Given the description of an element on the screen output the (x, y) to click on. 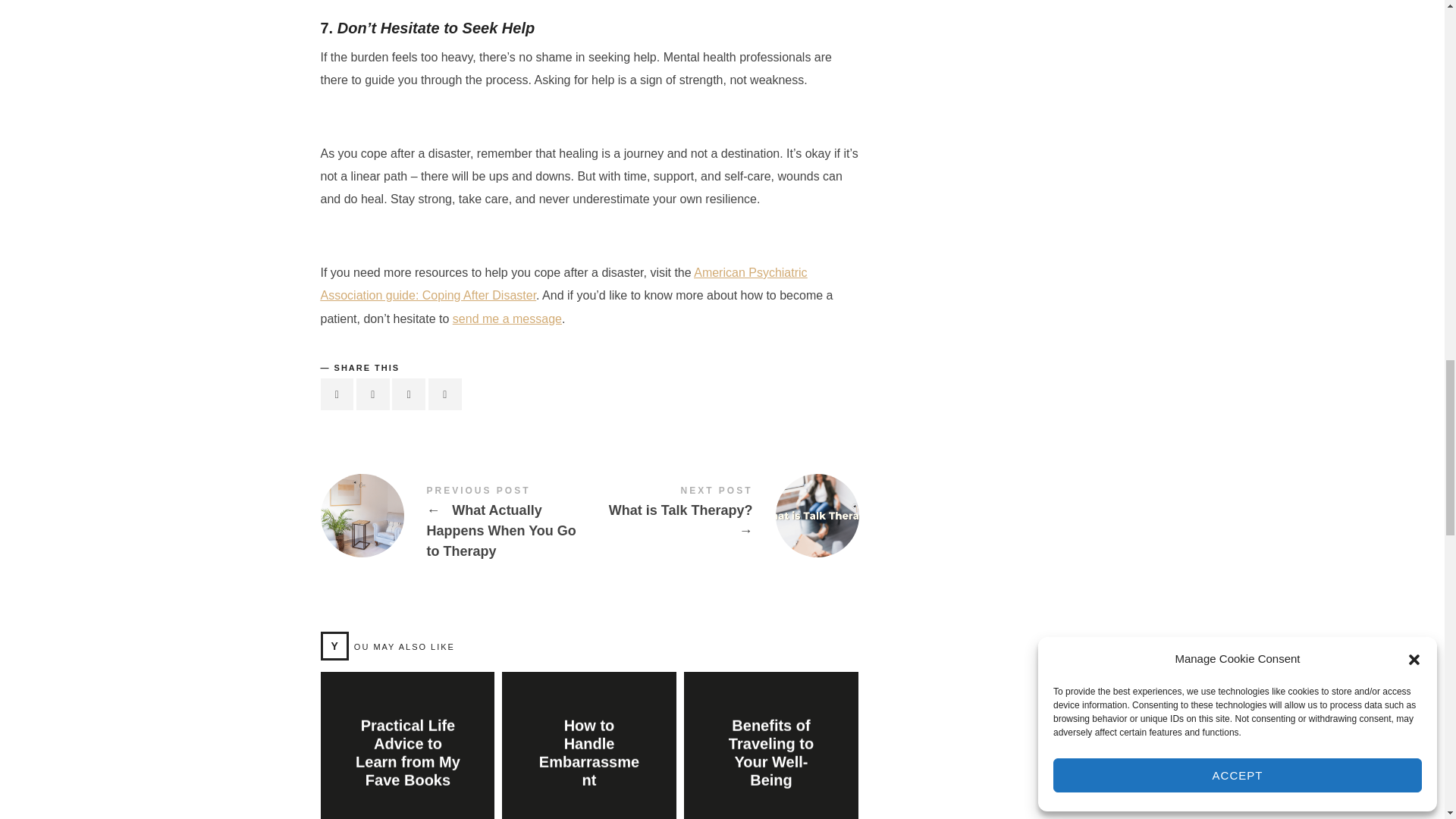
Share this post on Facebook (336, 394)
Email this post to a friend (444, 394)
Tweet this post to your followers (373, 394)
Pin it (408, 394)
